Given the description of an element on the screen output the (x, y) to click on. 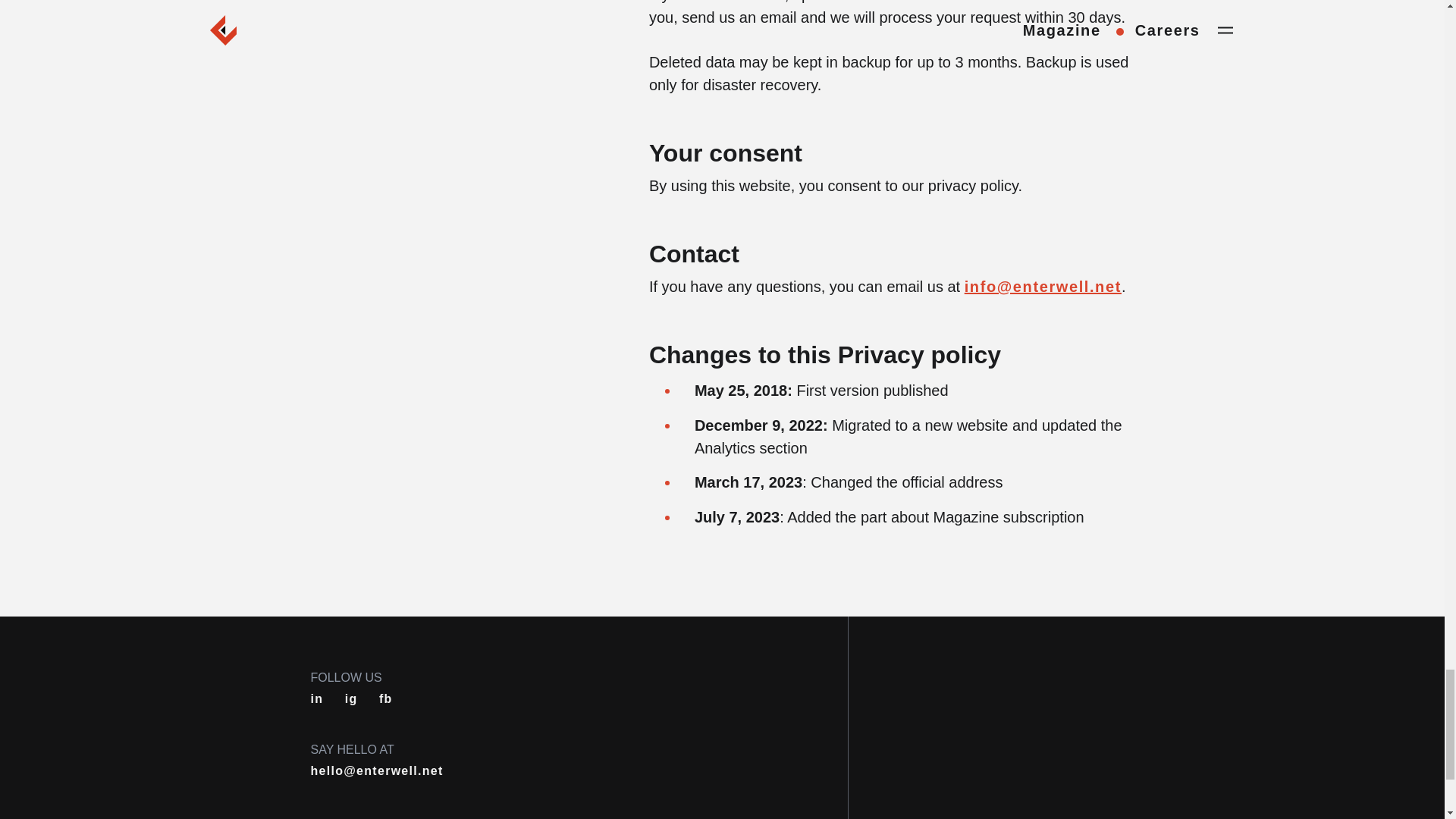
fb (385, 698)
in (317, 698)
ig (351, 698)
